Given the description of an element on the screen output the (x, y) to click on. 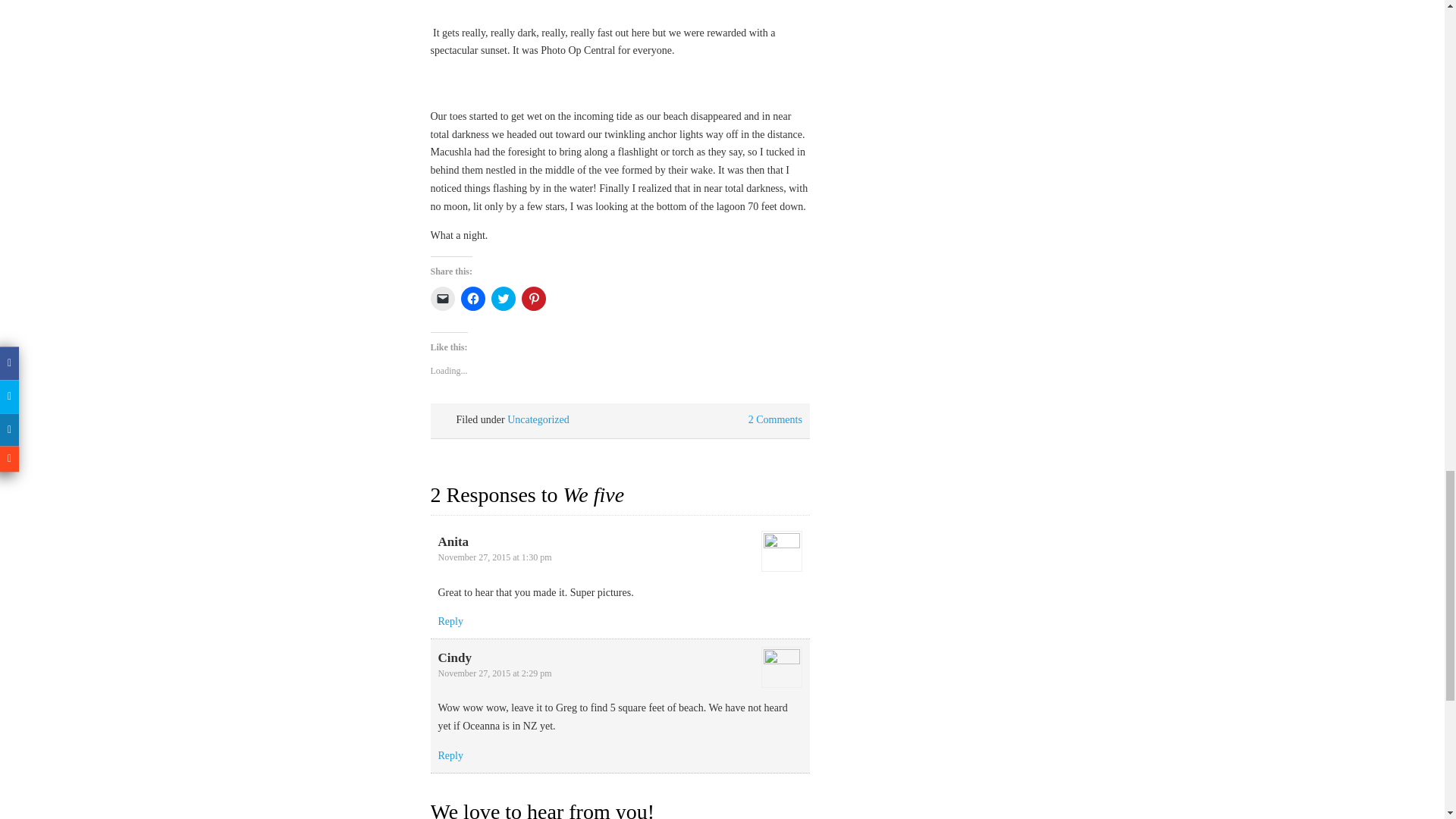
Click to email a link to a friend (442, 298)
Uncategorized (537, 419)
November 27, 2015 at 1:30 pm (494, 557)
2 Comments (775, 419)
Reply (450, 621)
Reply (450, 755)
Click to share on Facebook (472, 298)
November 27, 2015 at 2:29 pm (494, 673)
Click to share on Pinterest (533, 298)
Click to share on Twitter (503, 298)
